Given the description of an element on the screen output the (x, y) to click on. 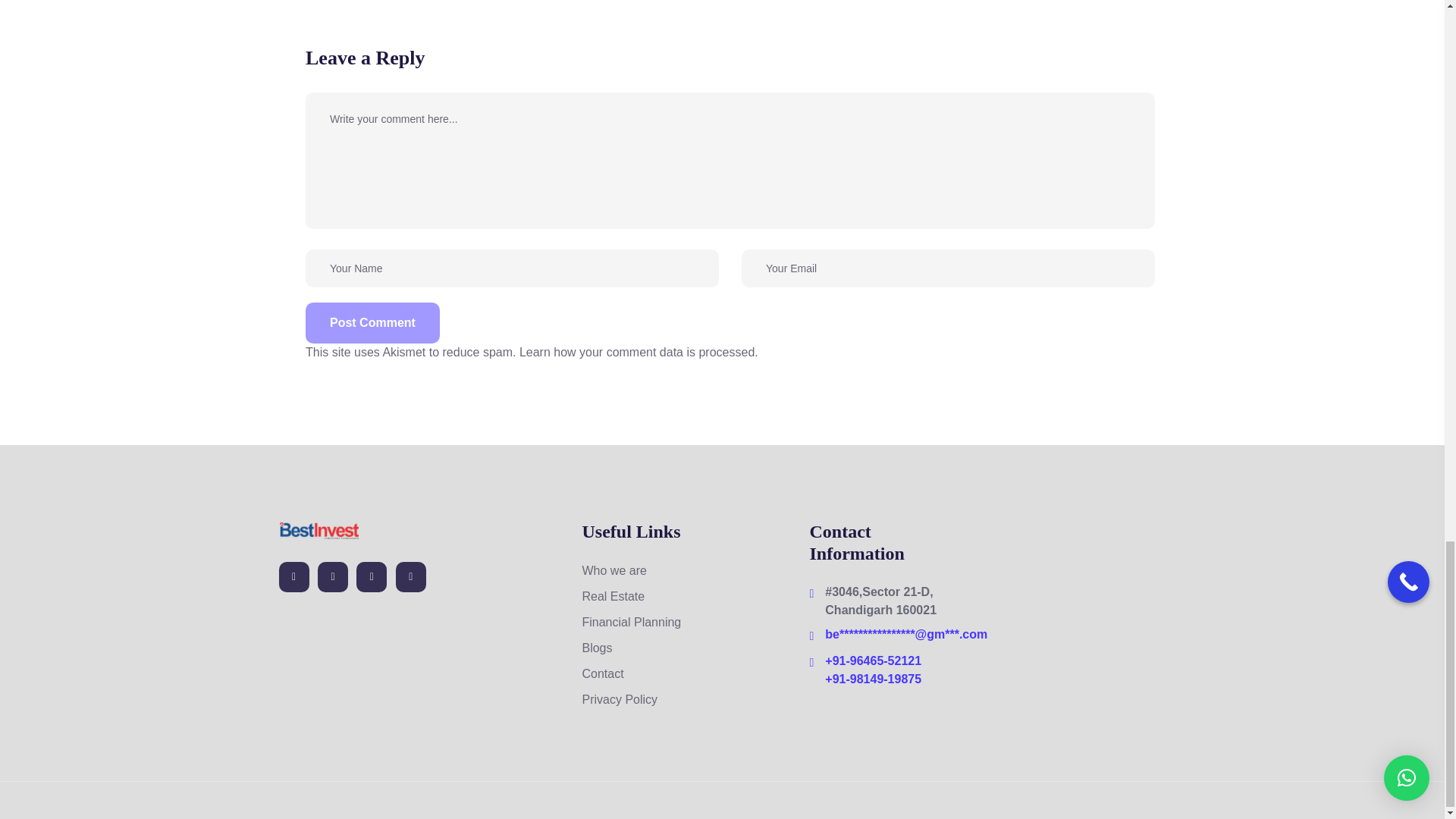
Learn how your comment data is processed (636, 351)
Post Comment (372, 322)
